Given the description of an element on the screen output the (x, y) to click on. 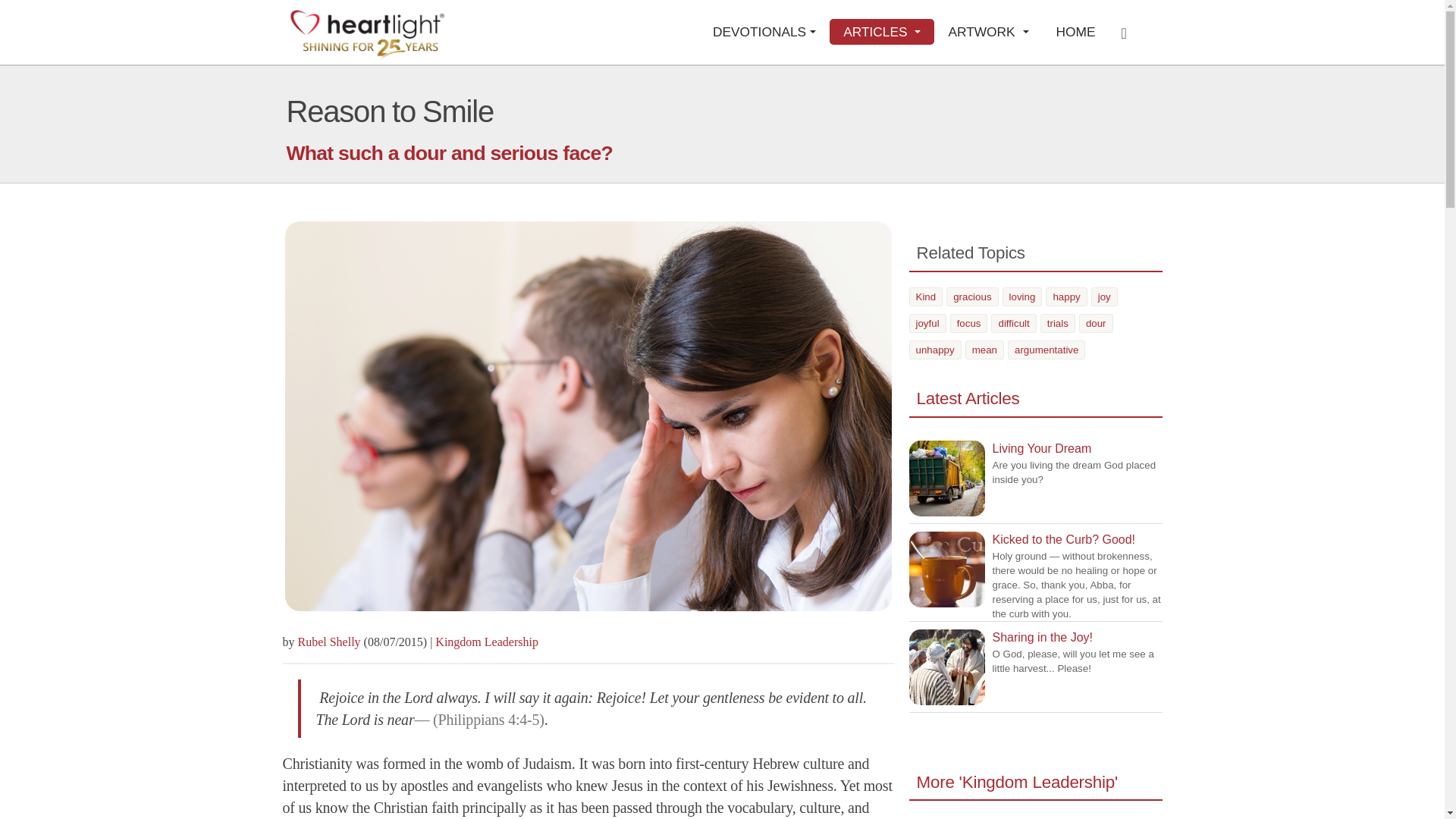
Search Heartlight (1127, 32)
ARTWORK (988, 31)
HOME (1075, 31)
ARTICLES (881, 31)
DEVOTIONALS (763, 31)
Sharing in the Joy! (946, 667)
Kicked to the Curb? Good! (946, 569)
Living Your Dream (946, 478)
Heartlight - Home (367, 33)
